Given the description of an element on the screen output the (x, y) to click on. 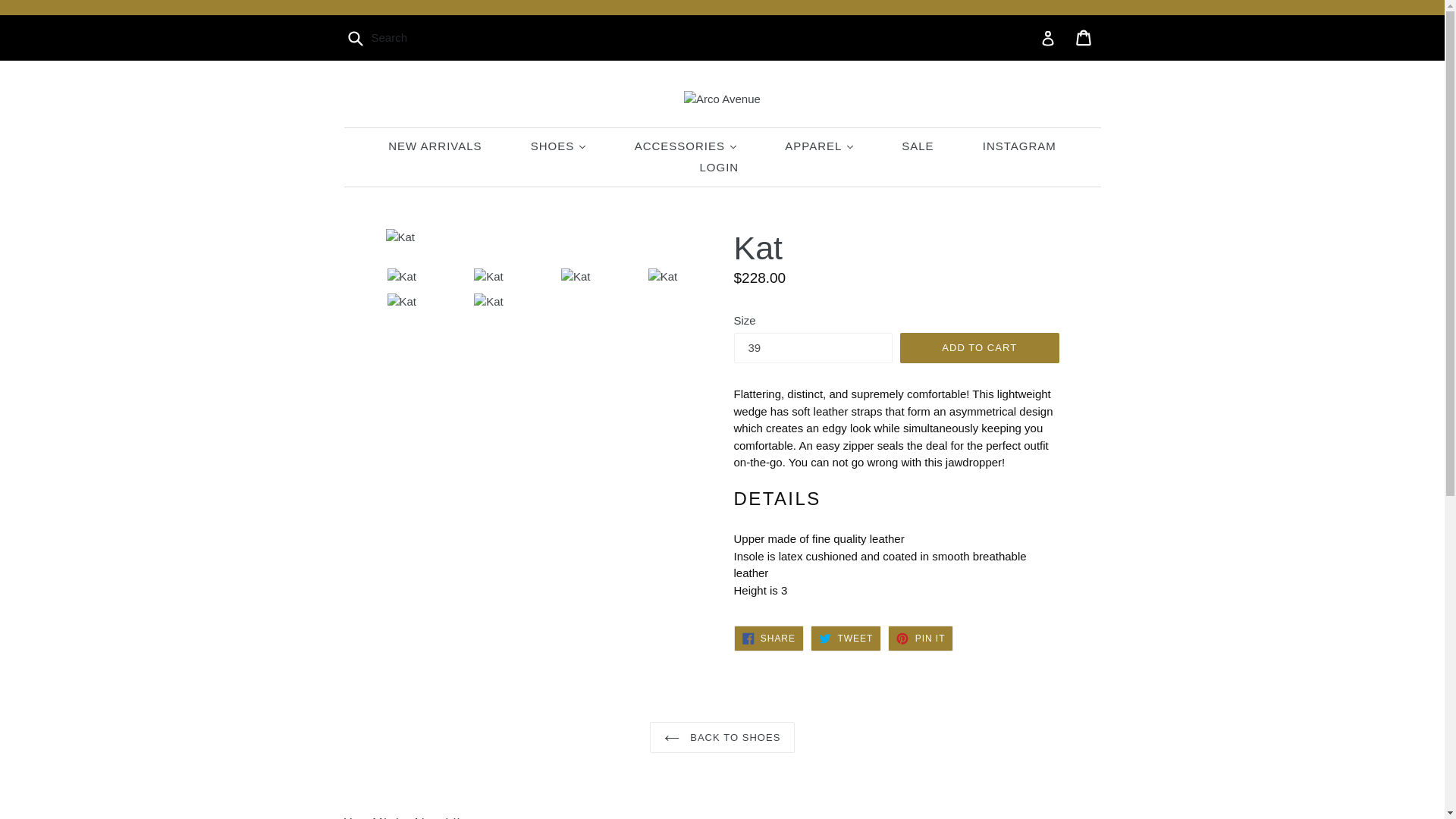
Log in (1048, 38)
Submit (354, 37)
NEW ARRIVALS (1084, 37)
Tweet on Twitter (434, 146)
Share on Facebook (845, 638)
Pin on Pinterest (768, 638)
